Given the description of an element on the screen output the (x, y) to click on. 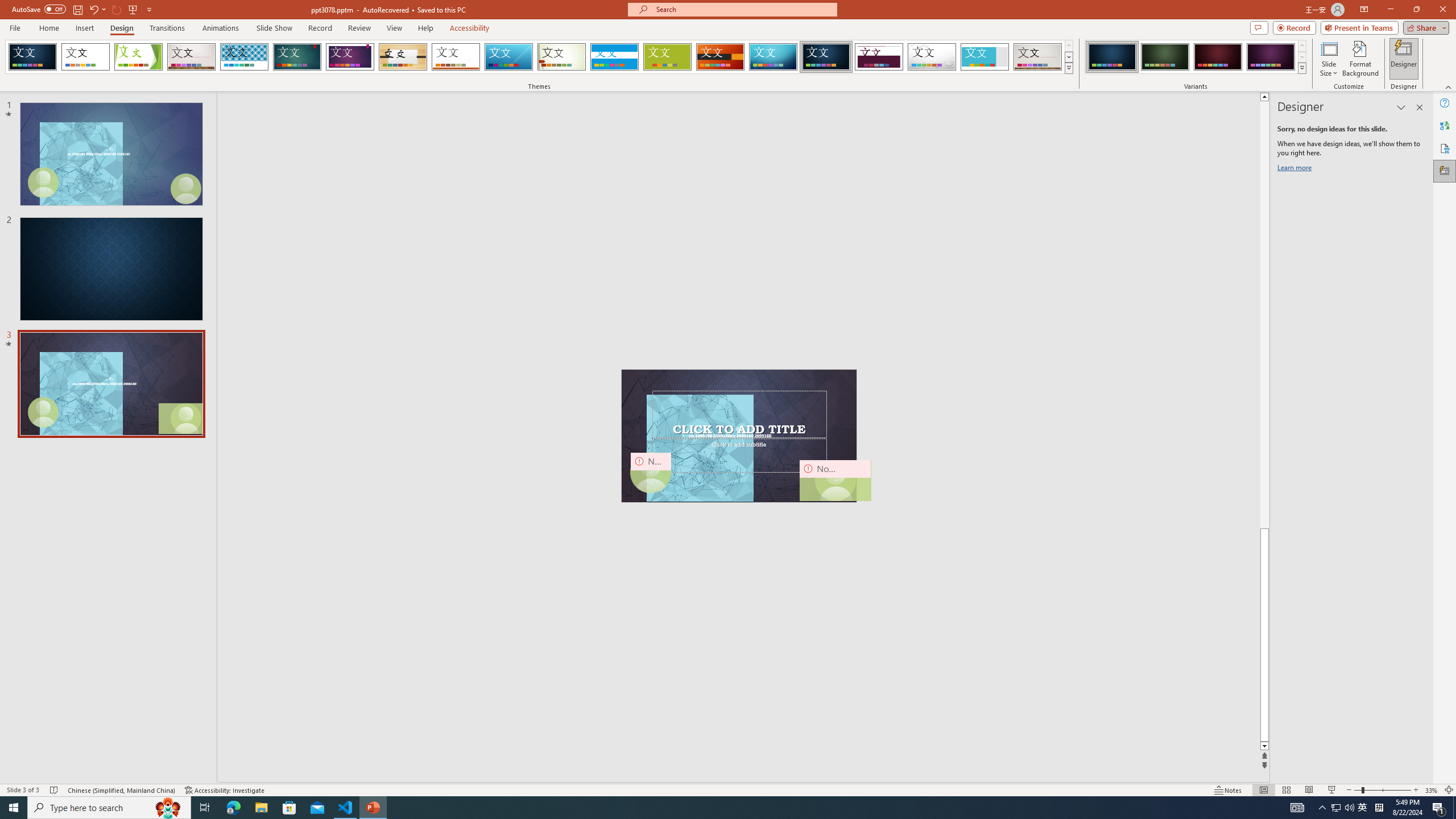
Themes (1068, 67)
Ion (296, 56)
Zoom 33% (1431, 790)
Camera 11, No camera detected. (834, 479)
TextBox 7 (736, 430)
Ion Boardroom (350, 56)
AutomationID: ThemeVariantsGallery (1195, 56)
